Given the description of an element on the screen output the (x, y) to click on. 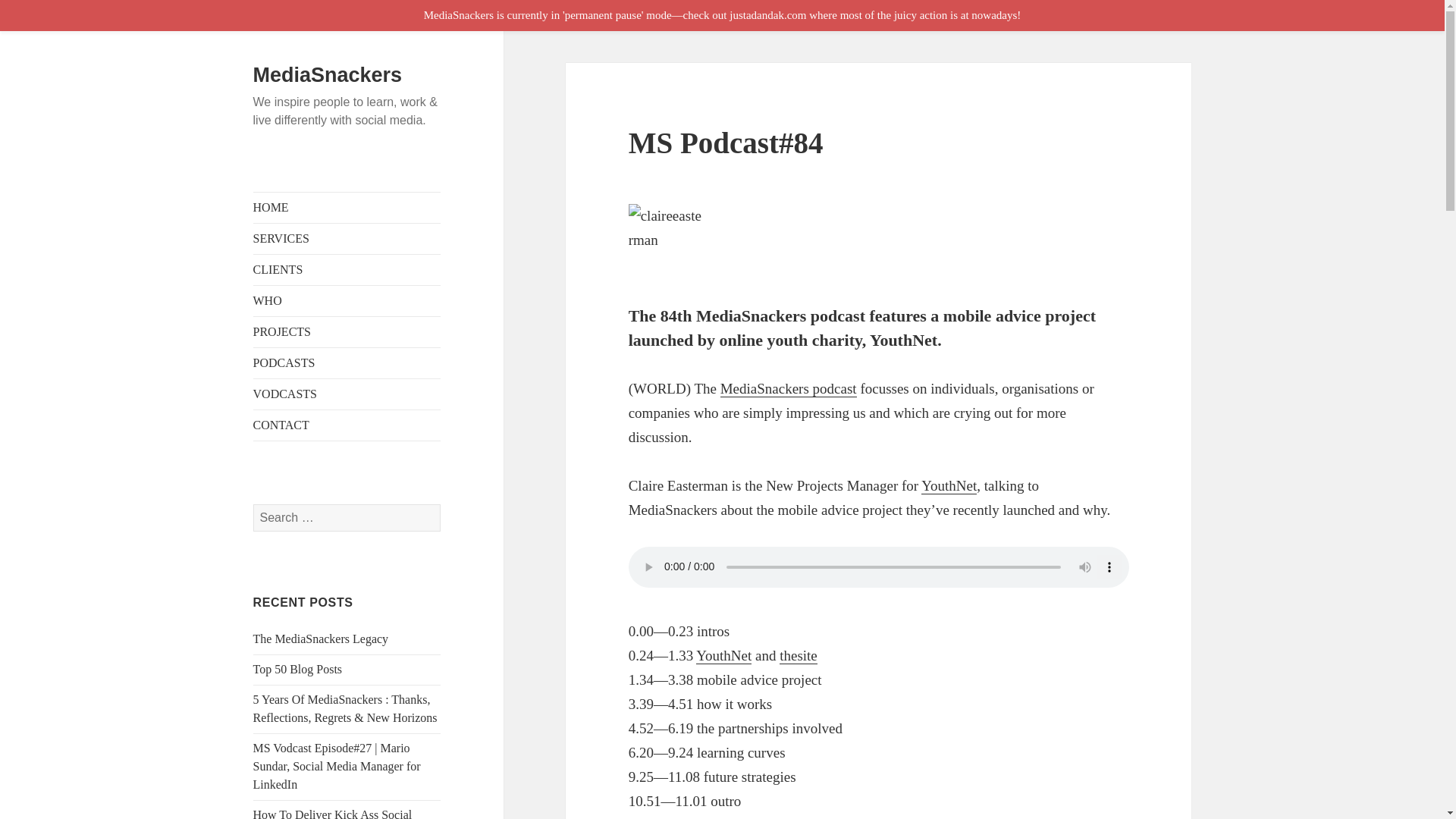
WHO (347, 300)
PODCASTS (347, 363)
How To Deliver Kick Ass Social Media Training (332, 813)
MediaSnackers (328, 74)
SERVICES (347, 238)
Top 50 Blog Posts (297, 668)
PROJECTS (347, 331)
CLIENTS (347, 269)
CONTACT (347, 425)
HOME (347, 207)
VODCASTS (347, 394)
The MediaSnackers Legacy (320, 638)
